Given the description of an element on the screen output the (x, y) to click on. 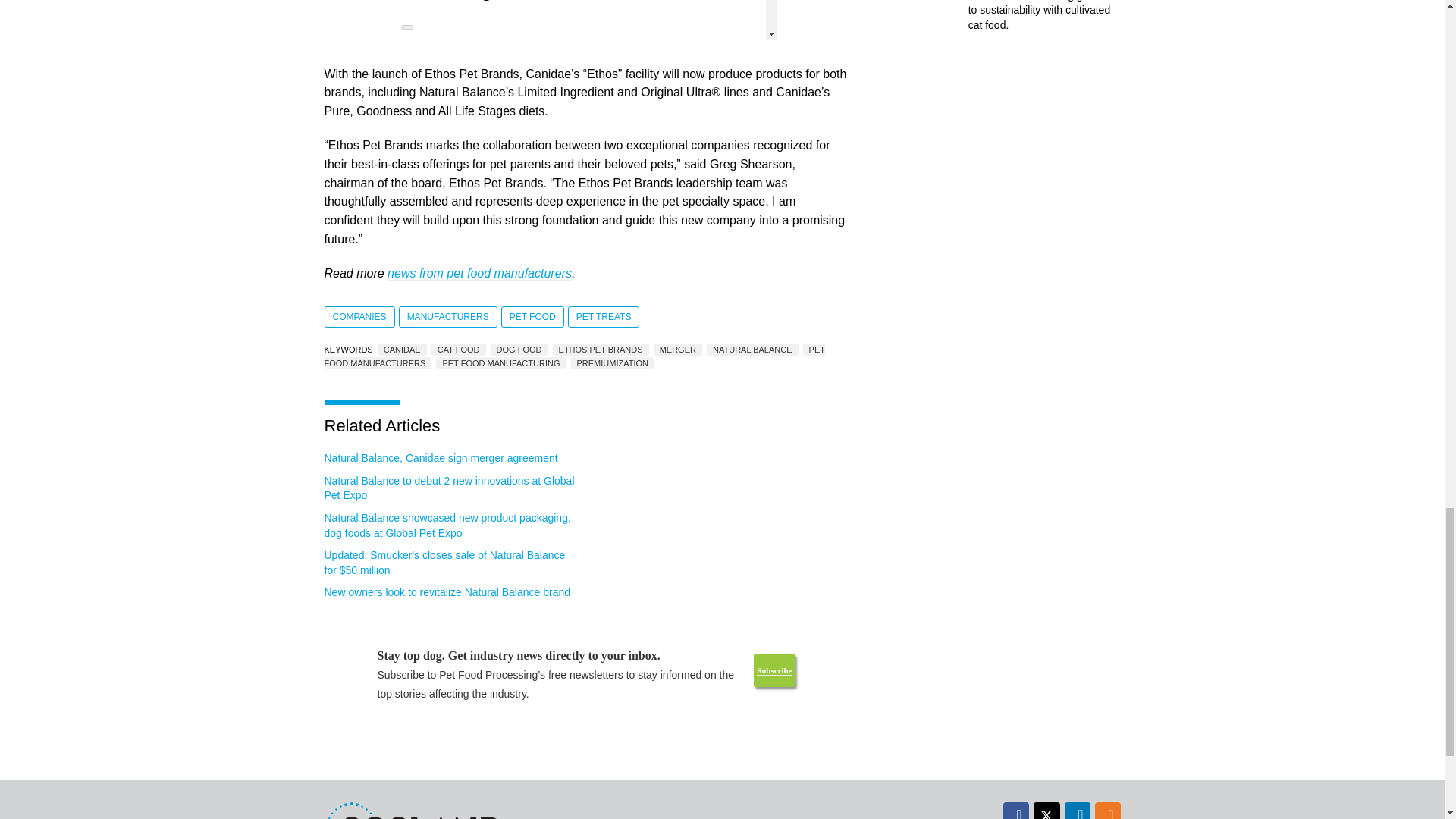
Embedded post (585, 20)
